Given the description of an element on the screen output the (x, y) to click on. 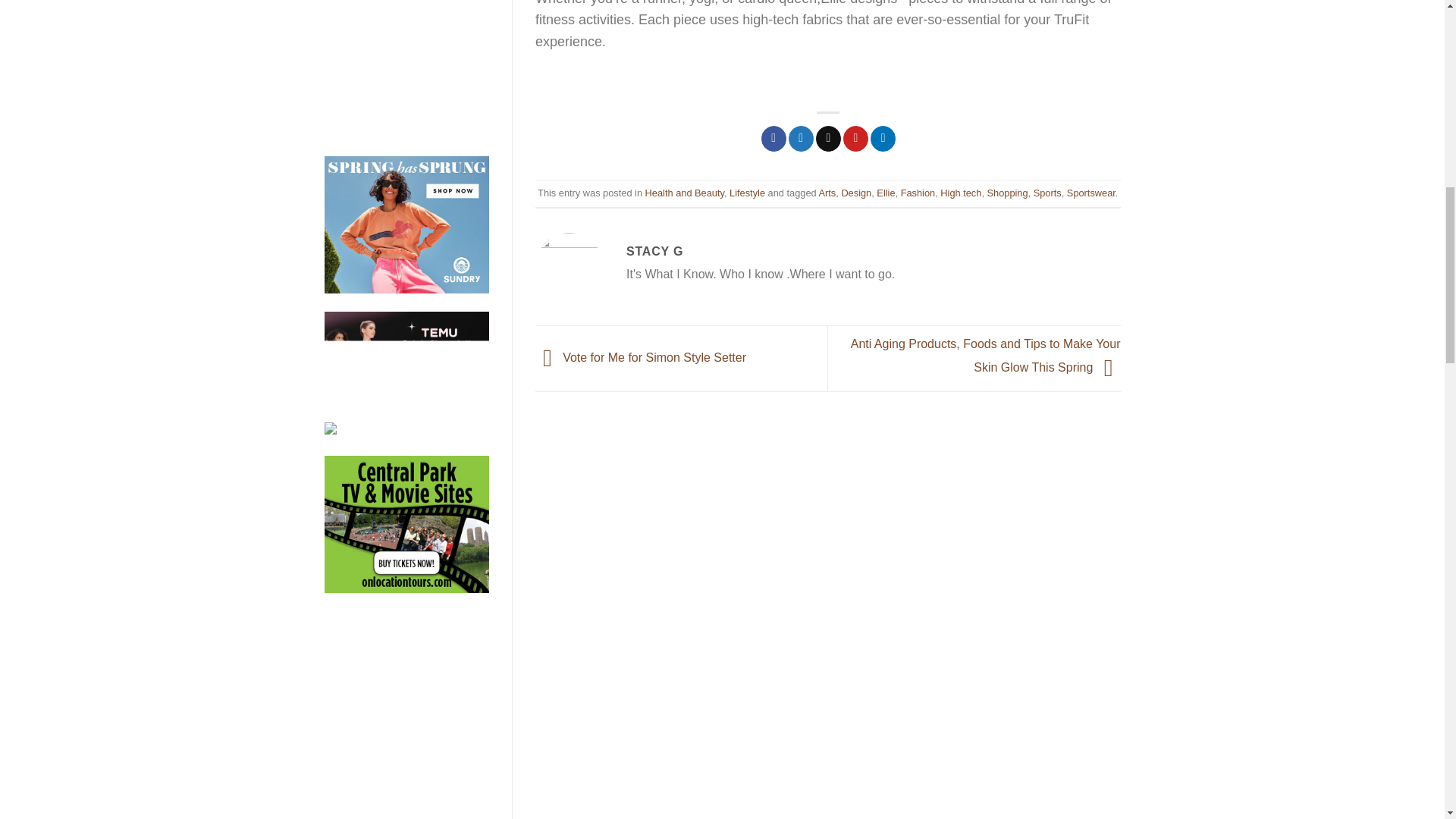
Share on Twitter (801, 138)
Share on Facebook (773, 138)
